Given the description of an element on the screen output the (x, y) to click on. 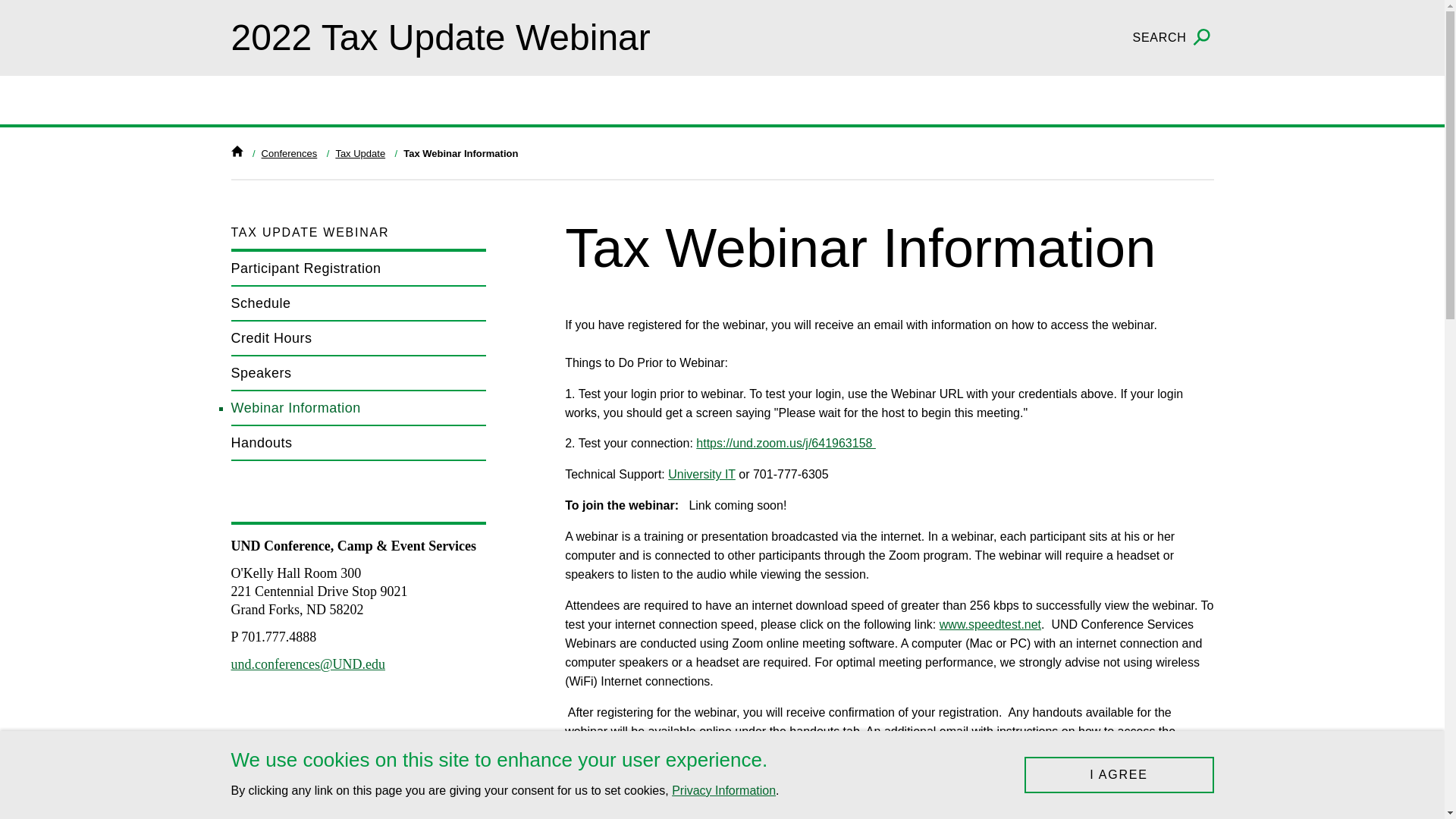
Speakers (358, 373)
I AGREE (1117, 774)
University IT (701, 473)
Tax Update (359, 153)
SEARCH (1173, 37)
Webinar Information (358, 408)
Webinar (785, 442)
Schedule (358, 303)
Handouts (358, 443)
TAX UPDATE WEBINAR (358, 232)
Participant Registration (358, 268)
Credit Hours (358, 338)
Conferences (289, 153)
Privacy Information (723, 789)
2022 Tax Update Webinar (439, 37)
